Given the description of an element on the screen output the (x, y) to click on. 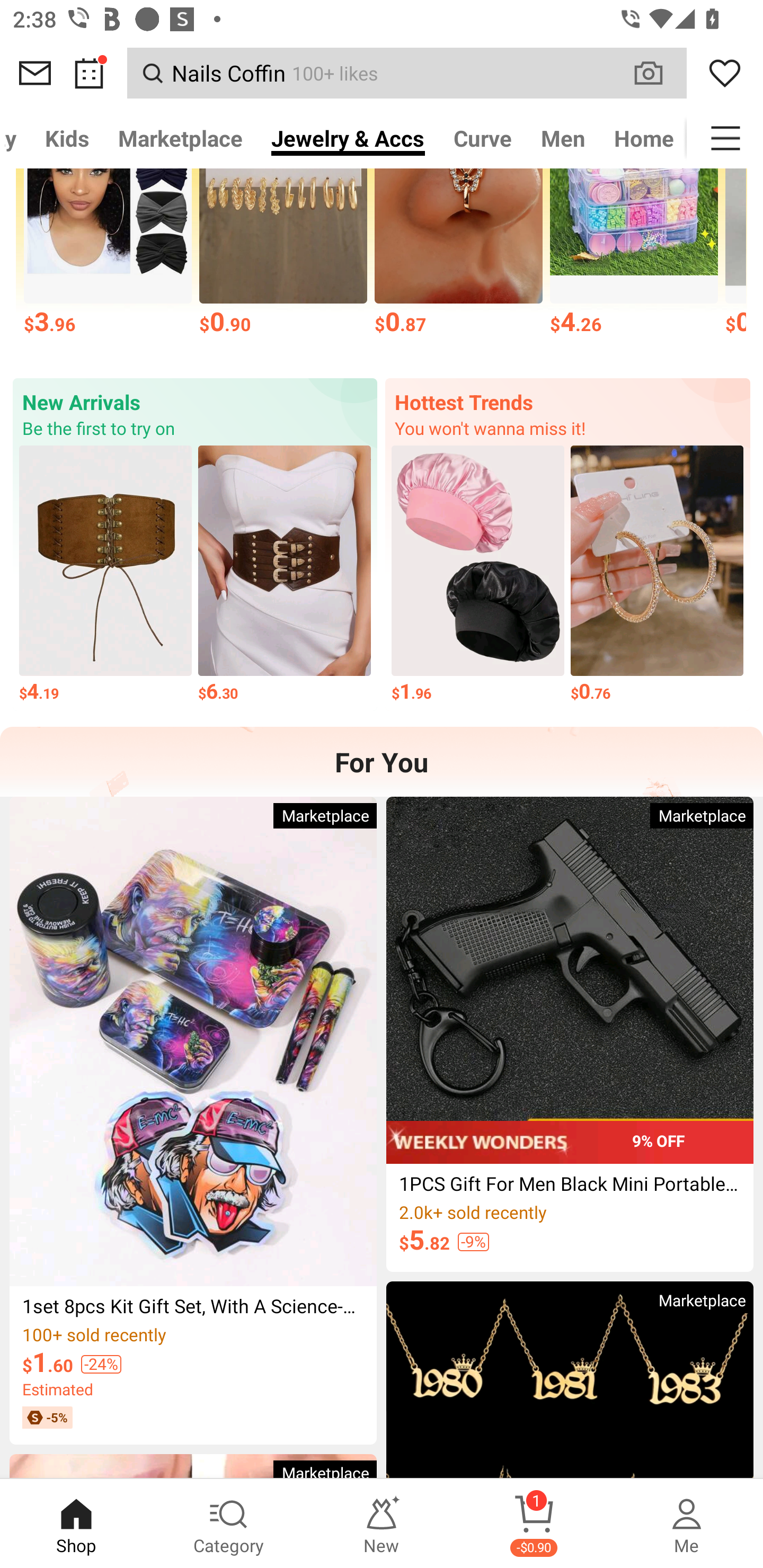
Wishlist (724, 72)
VISUAL SEARCH (657, 72)
Kids (66, 137)
Marketplace (180, 137)
Jewelry & Accs (348, 137)
Curve (482, 137)
Men (562, 137)
Home (642, 137)
$4.19 Price $4.19 (105, 574)
$6.30 Price $6.30 (284, 574)
$1.96 Price $1.96 (477, 574)
$0.76 Price $0.76 (656, 574)
Category (228, 1523)
New (381, 1523)
Cart 1 -$0.90 (533, 1523)
Me (686, 1523)
